Given the description of an element on the screen output the (x, y) to click on. 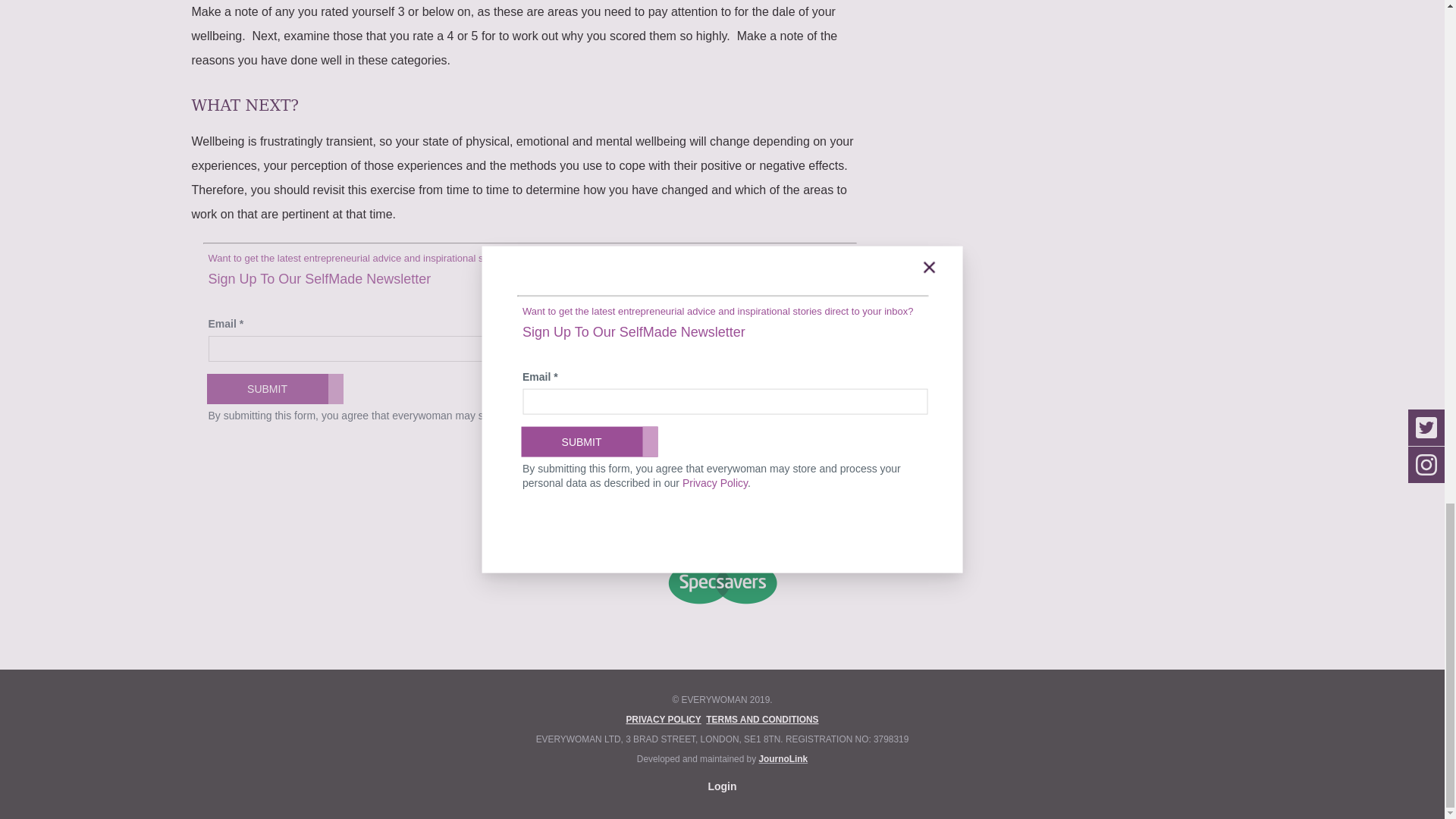
Login (721, 786)
JournoLink (783, 758)
PRIVACY POLICY (663, 719)
TERMS AND CONDITIONS (762, 719)
